Given the description of an element on the screen output the (x, y) to click on. 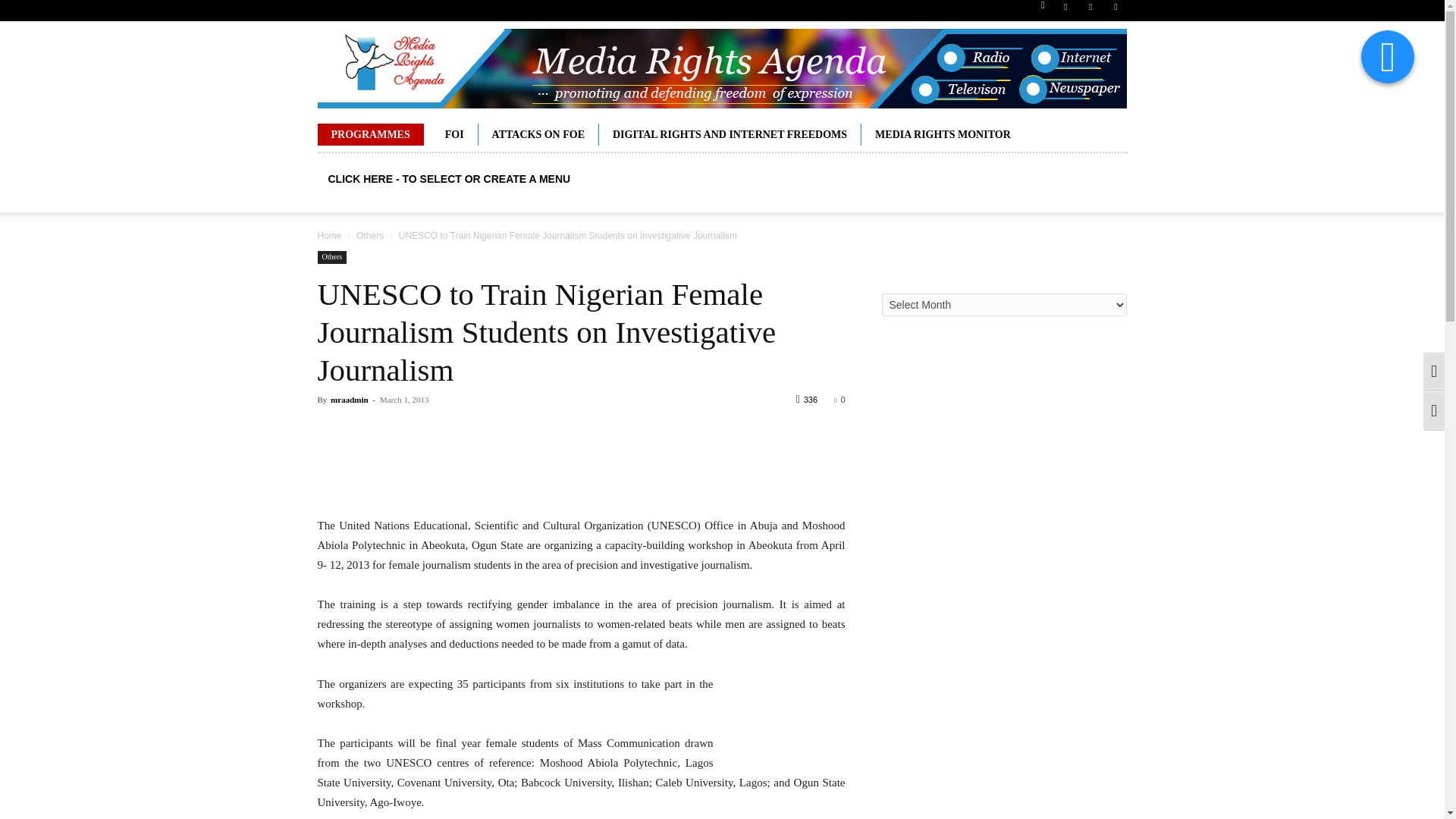
Facebook (1065, 11)
Twitter (1114, 11)
FOI (453, 134)
Search (1085, 64)
Linkedin (1090, 11)
View all posts in Others (370, 235)
PROGRAMMES (370, 134)
Media Rights Agenda Logo (721, 68)
